Given the description of an element on the screen output the (x, y) to click on. 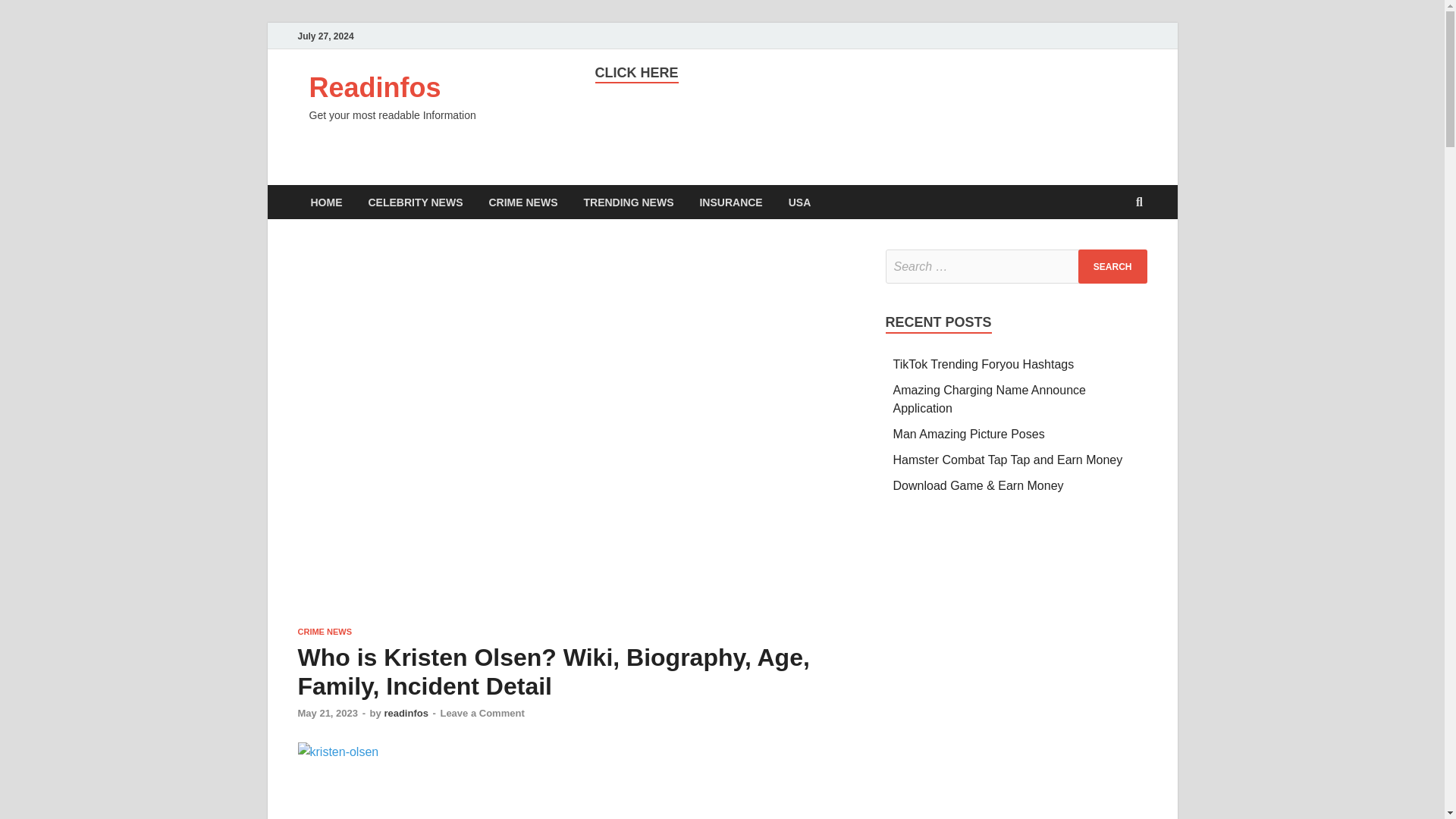
Readinfos (374, 87)
May 21, 2023 (327, 713)
INSURANCE (729, 202)
readinfos (406, 713)
CELEBRITY NEWS (415, 202)
Search (1112, 266)
USA (800, 202)
HOME (326, 202)
CRIME NEWS (324, 631)
TRENDING NEWS (627, 202)
CRIME NEWS (523, 202)
Search (1112, 266)
Leave a Comment (481, 713)
